Given the description of an element on the screen output the (x, y) to click on. 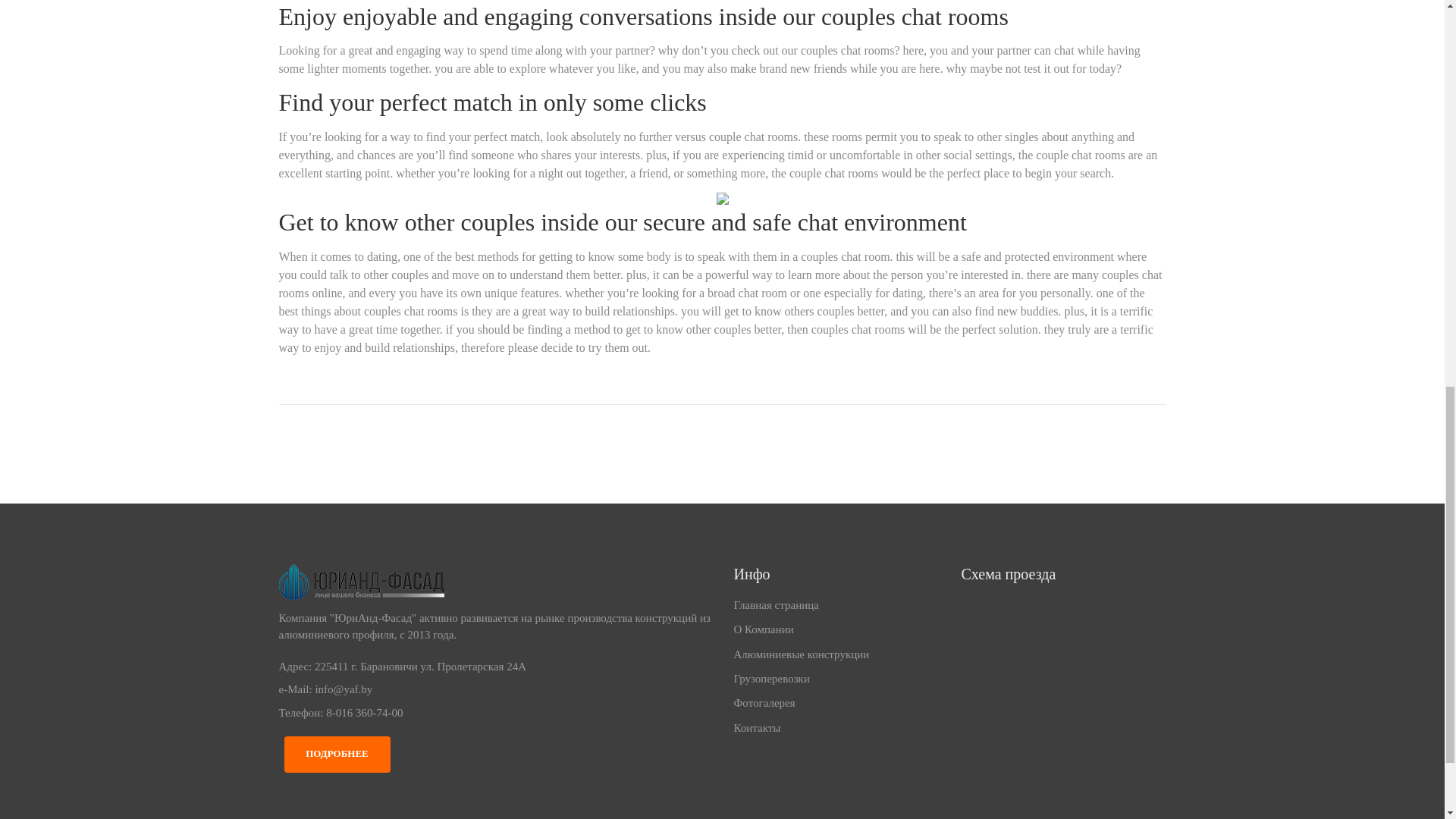
8-016 360-74-00 (364, 712)
